Given the description of an element on the screen output the (x, y) to click on. 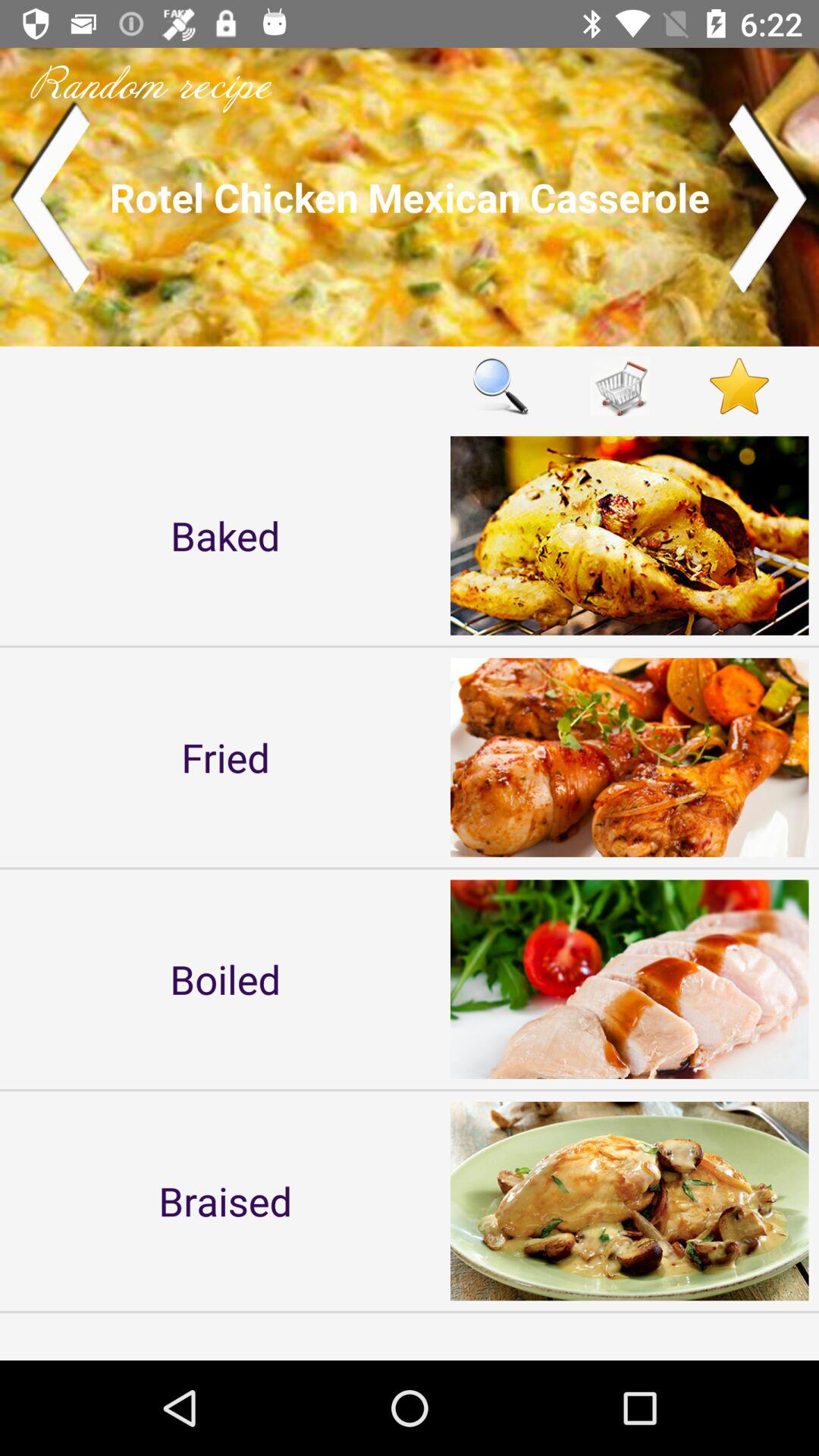
turn off baked item (225, 534)
